Given the description of an element on the screen output the (x, y) to click on. 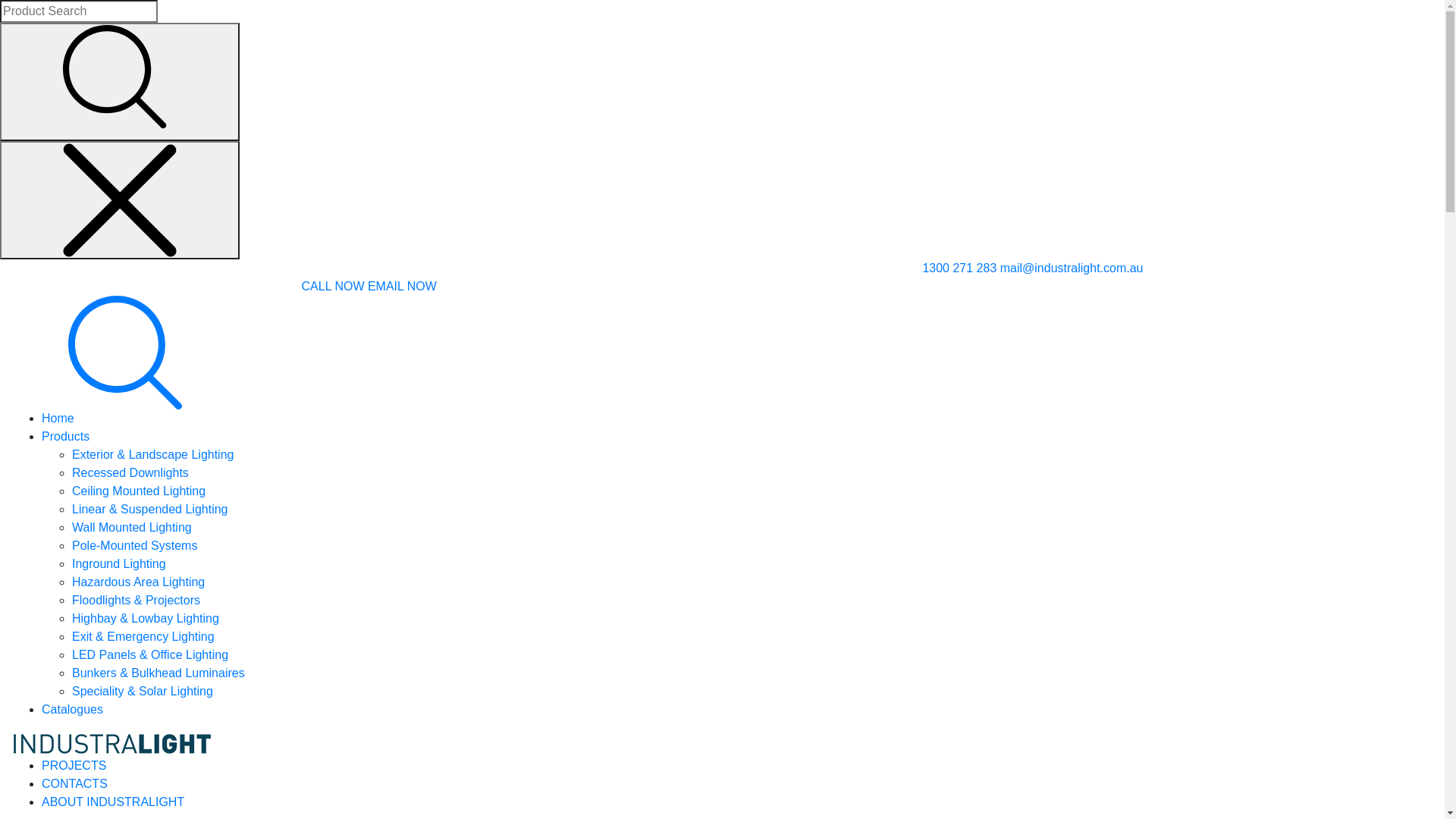
CONTACTS Element type: text (74, 783)
Pole-Mounted Systems Element type: text (134, 545)
Linear & Suspended Lighting Element type: text (150, 508)
Bunkers & Bulkhead Luminaires Element type: text (158, 672)
Exit & Emergency Lighting Element type: text (143, 636)
mail@industralight.com.au Element type: text (1071, 267)
Floodlights & Projectors Element type: text (136, 599)
Catalogues Element type: text (72, 708)
Ceiling Mounted Lighting Element type: text (138, 490)
Exterior & Landscape Lighting Element type: text (152, 454)
CALL NOW Element type: text (332, 285)
1300 271 283 Element type: text (959, 267)
PROJECTS Element type: text (73, 765)
Highbay & Lowbay Lighting Element type: text (145, 617)
Speciality & Solar Lighting Element type: text (142, 690)
LED Panels & Office Lighting Element type: text (150, 654)
Products Element type: text (65, 435)
EMAIL NOW Element type: text (401, 285)
Inground Lighting Element type: text (119, 563)
Wall Mounted Lighting Element type: text (131, 526)
Hazardous Area Lighting Element type: text (138, 581)
Home Element type: text (57, 417)
Recessed Downlights Element type: text (130, 472)
ABOUT INDUSTRALIGHT Element type: text (112, 801)
